Given the description of an element on the screen output the (x, y) to click on. 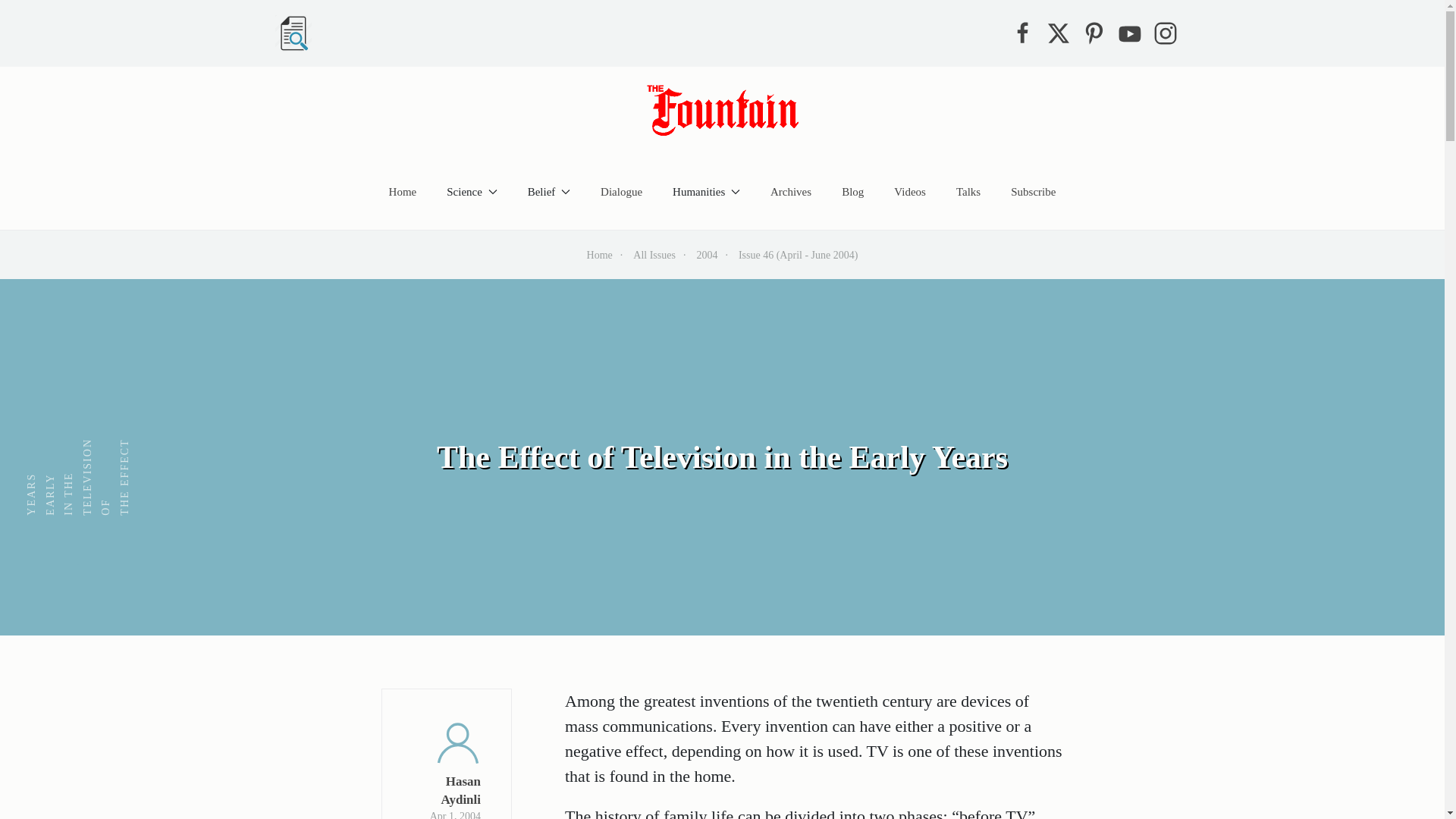
Search (293, 33)
